Given the description of an element on the screen output the (x, y) to click on. 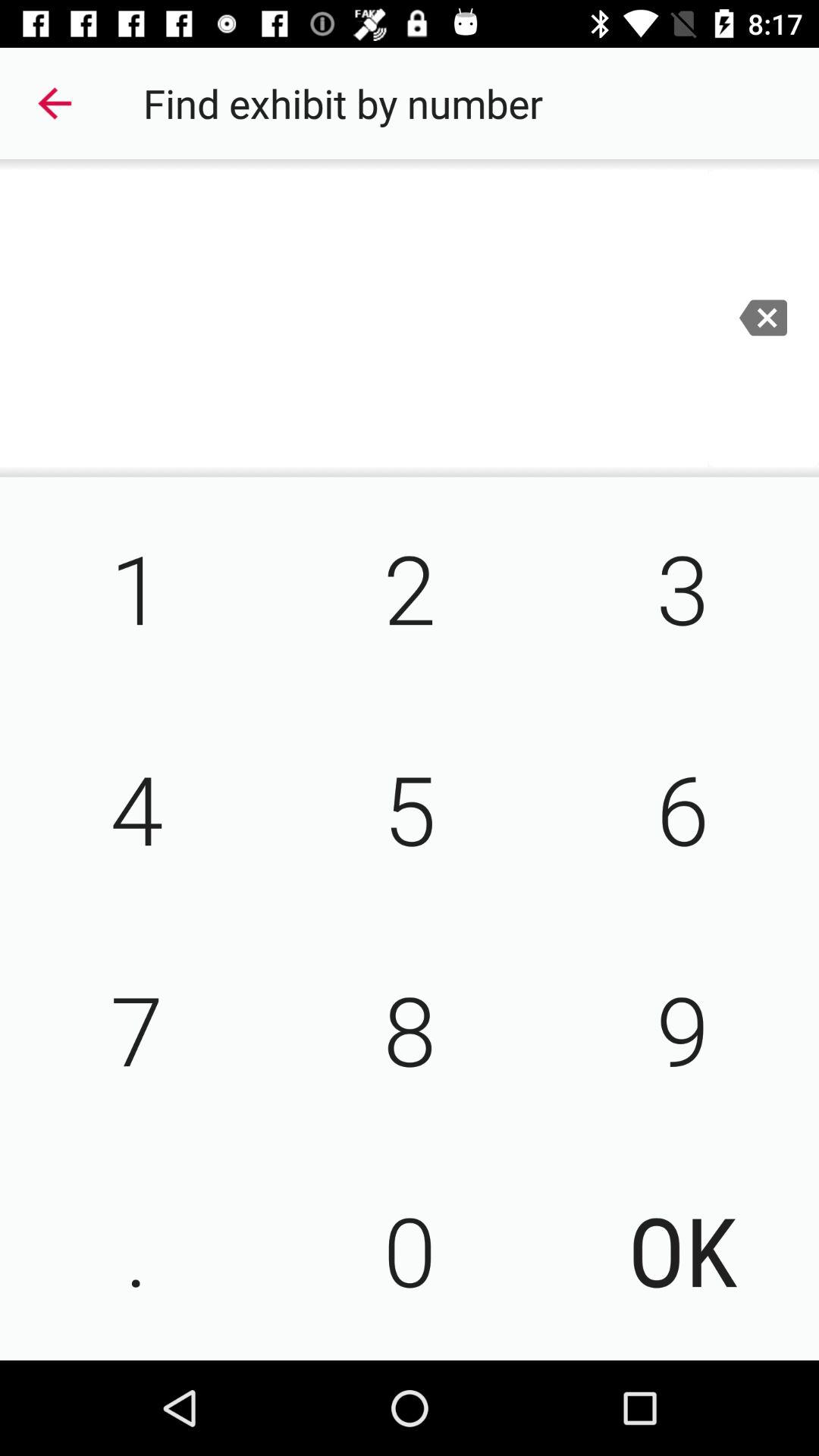
click 5 (409, 807)
select 0 (409, 1248)
click  the digit 6 in the dial pad (682, 807)
